Given the description of an element on the screen output the (x, y) to click on. 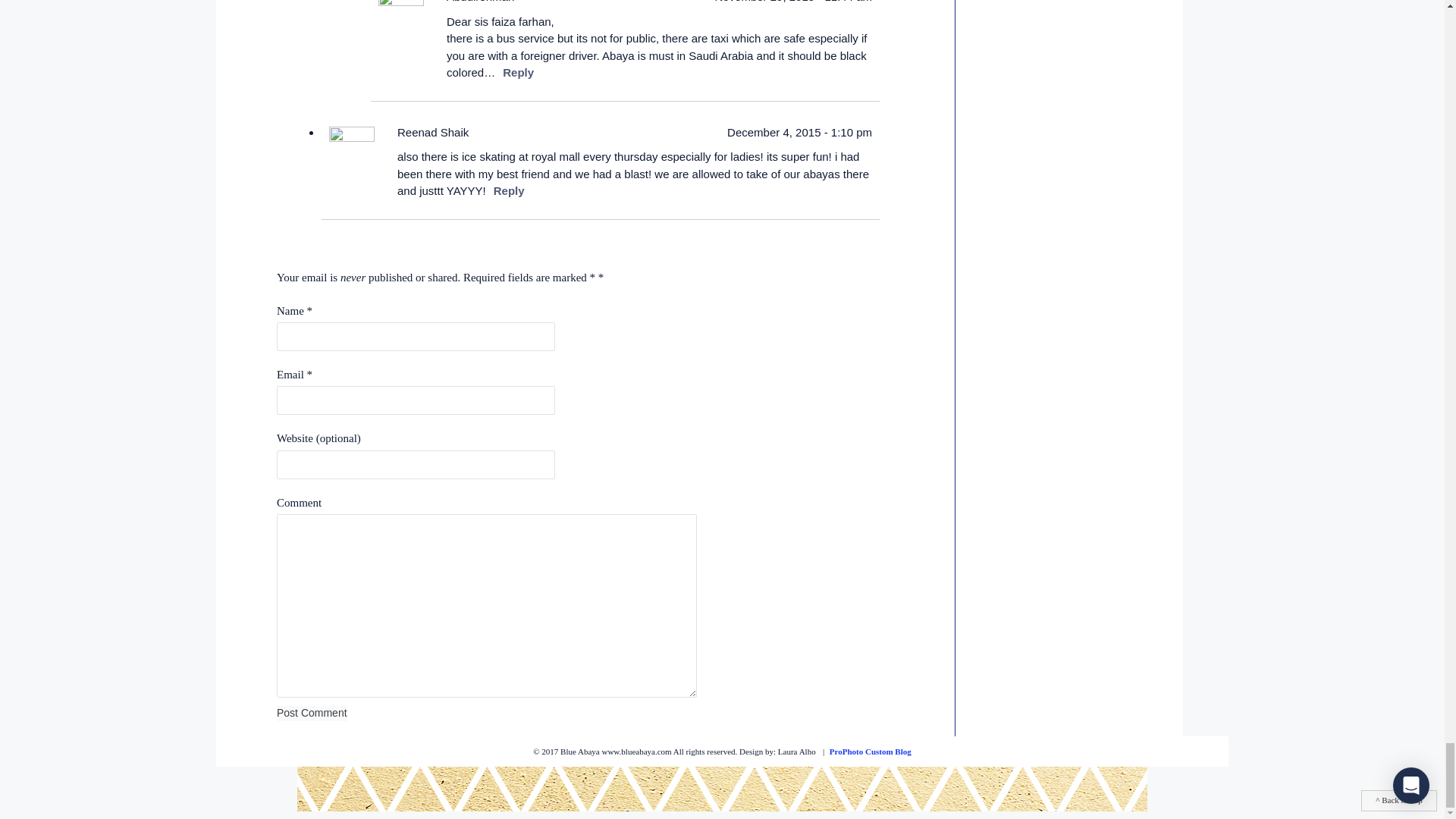
Post Comment (311, 713)
